Given the description of an element on the screen output the (x, y) to click on. 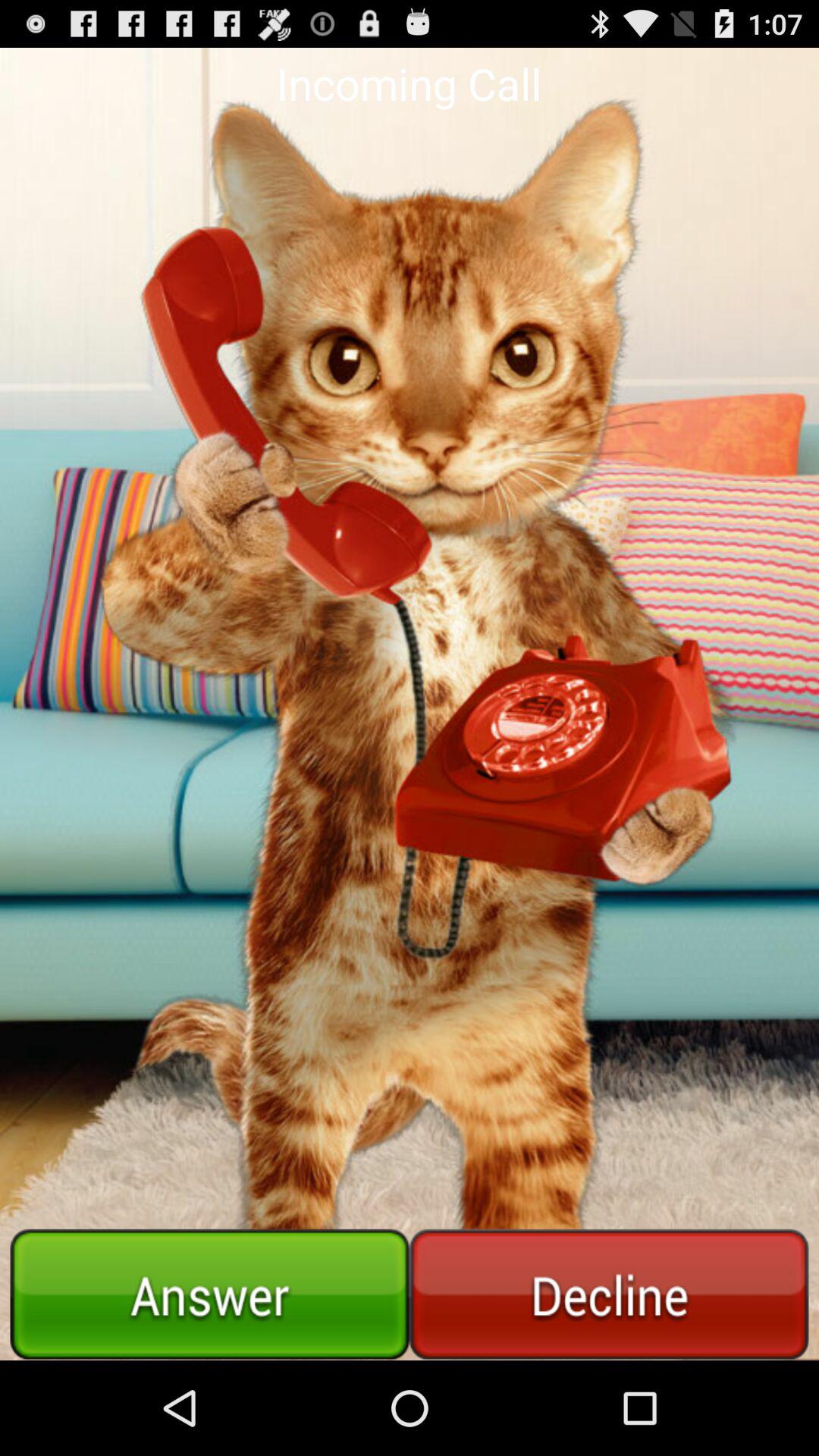
answer call (209, 1294)
